Given the description of an element on the screen output the (x, y) to click on. 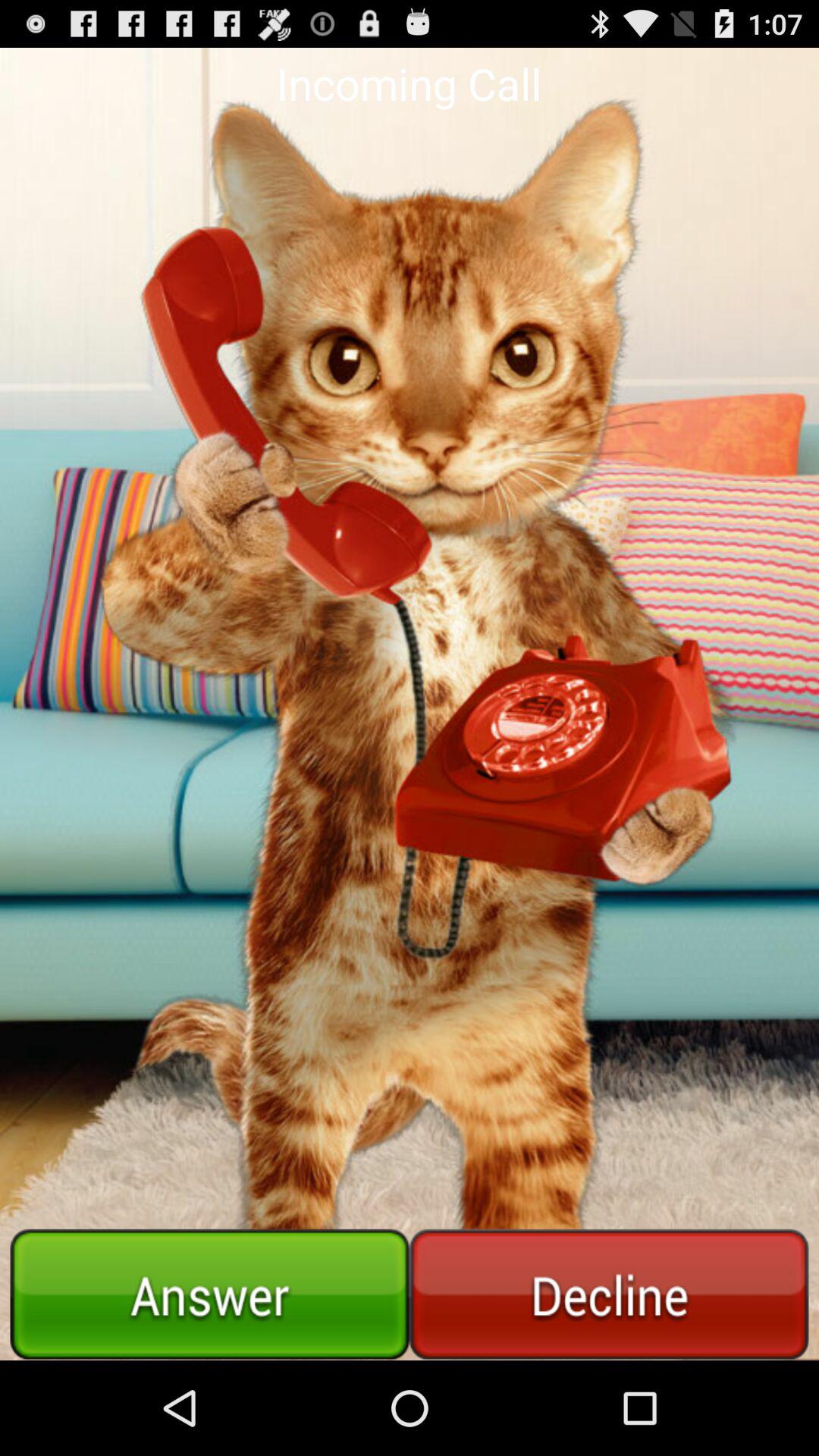
answer call (209, 1294)
